Given the description of an element on the screen output the (x, y) to click on. 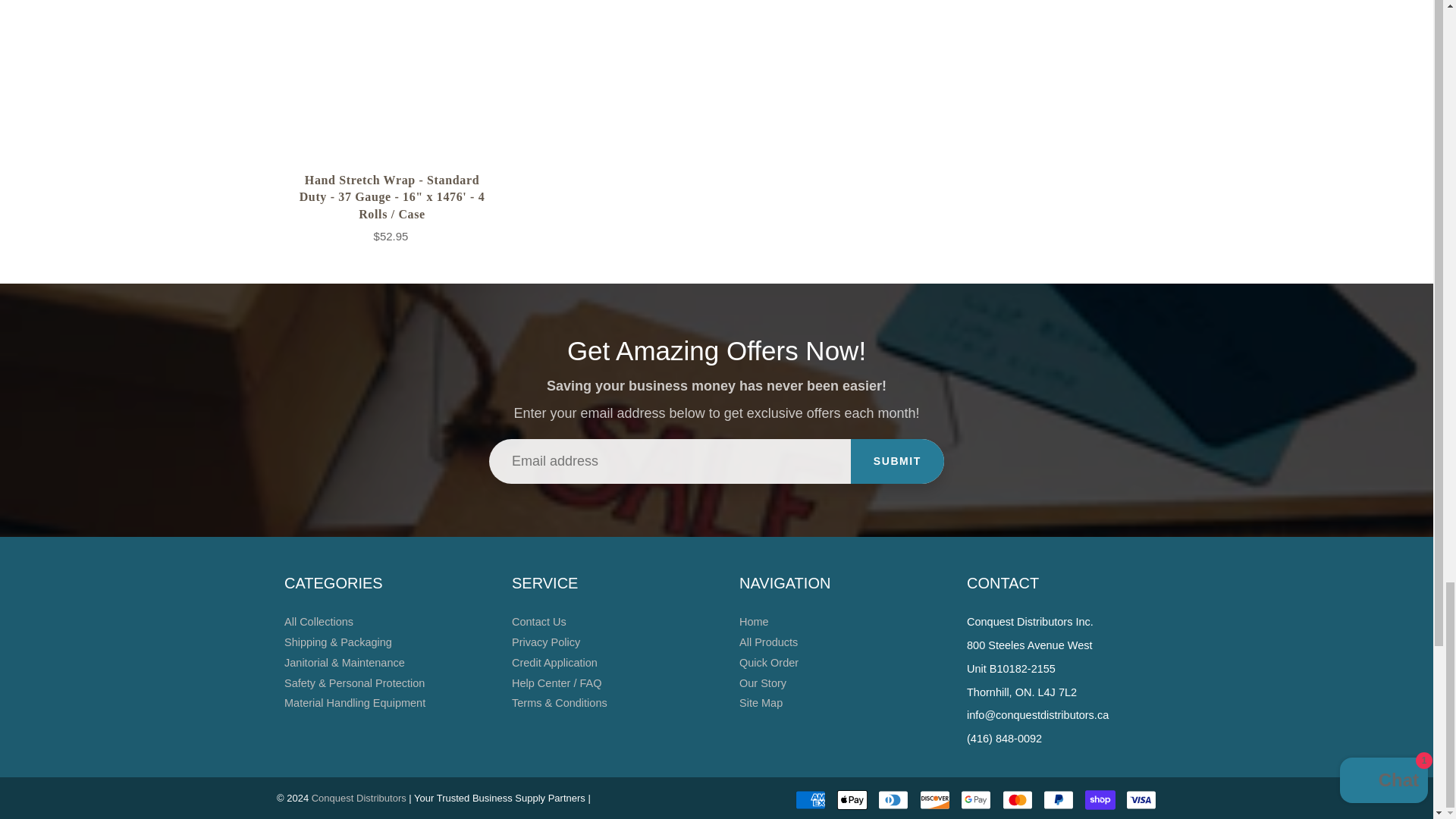
Discover (935, 799)
Diners Club (892, 799)
Shop Pay (1099, 799)
PayPal (1058, 799)
Mastercard (1017, 799)
Visa (1140, 799)
Apple Pay (852, 799)
American Express (809, 799)
Google Pay (975, 799)
